Given the description of an element on the screen output the (x, y) to click on. 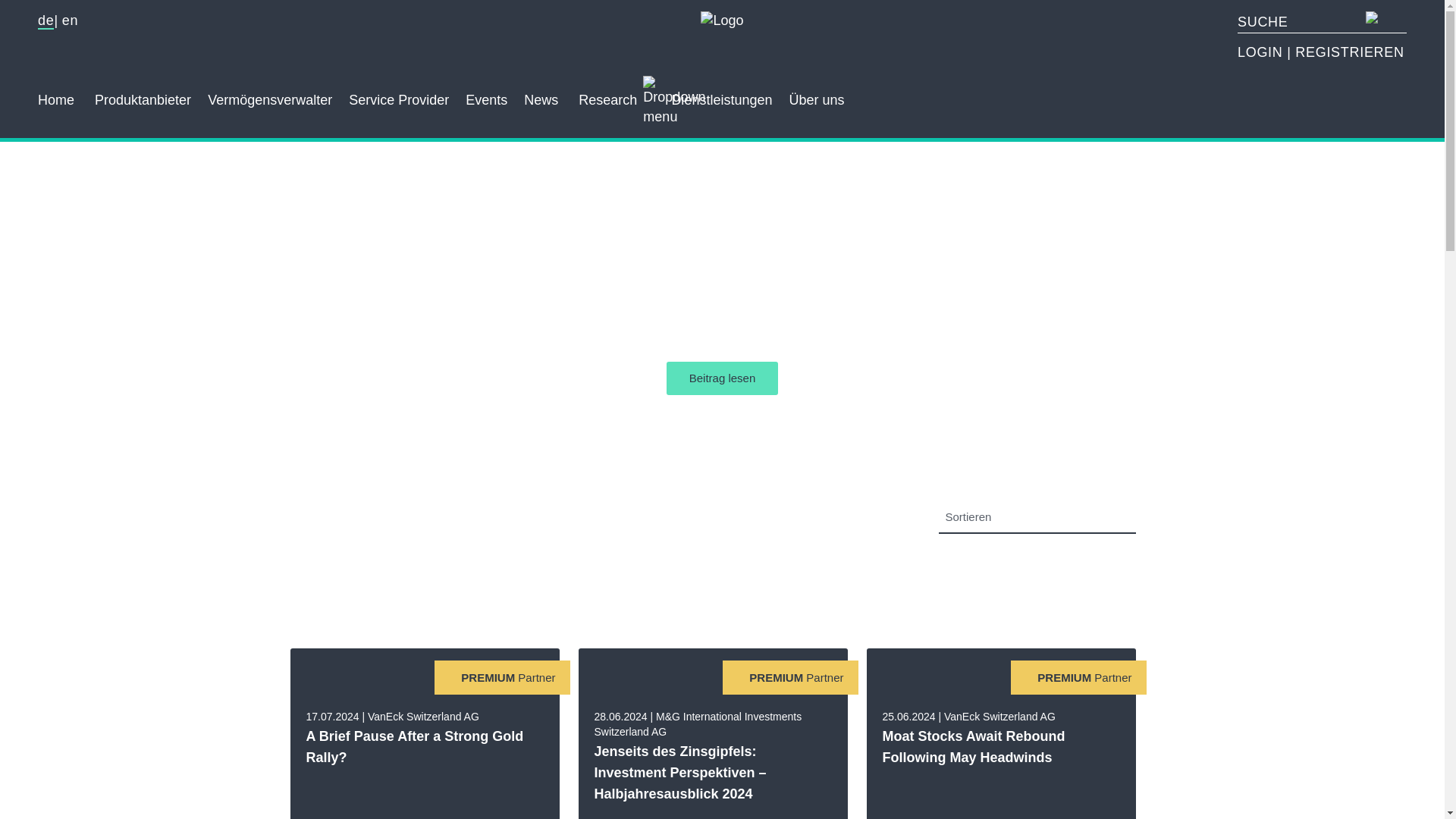
en (70, 20)
LOGIN (1262, 52)
de (45, 21)
Service Provider (398, 92)
Events (485, 92)
News (540, 92)
Produktanbieter (142, 92)
REGISTRIEREN (1349, 52)
Home (55, 92)
